Given the description of an element on the screen output the (x, y) to click on. 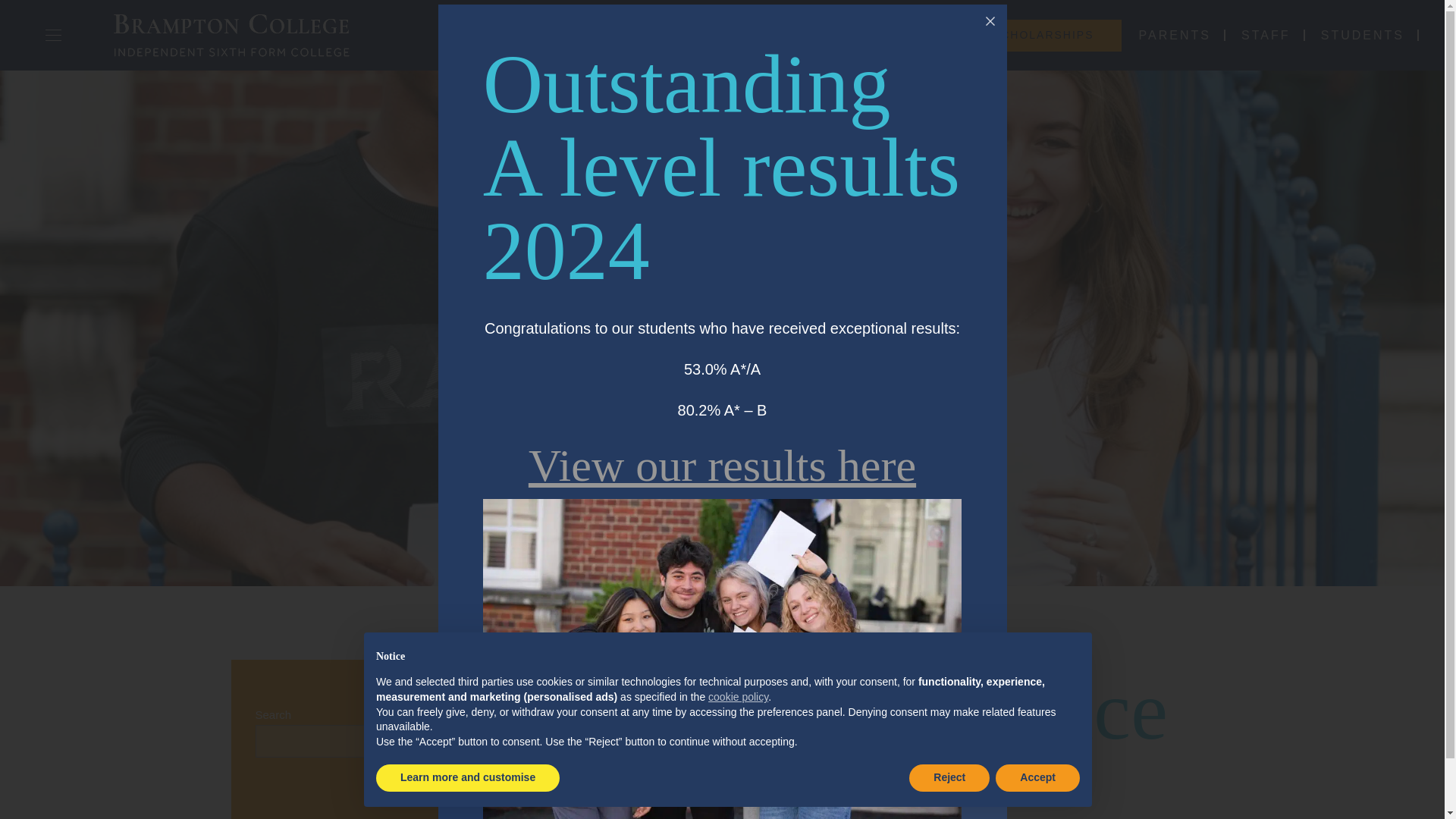
APPLY NOW (892, 35)
Go to NEWS. (648, 613)
STUDENTS (1362, 34)
STAFF (1265, 34)
PARENTS (1174, 34)
SCHOLARSHIPS (1043, 35)
Go to Brampton College. (584, 613)
Go to the Blog Posts Category archives. (739, 613)
